Given the description of an element on the screen output the (x, y) to click on. 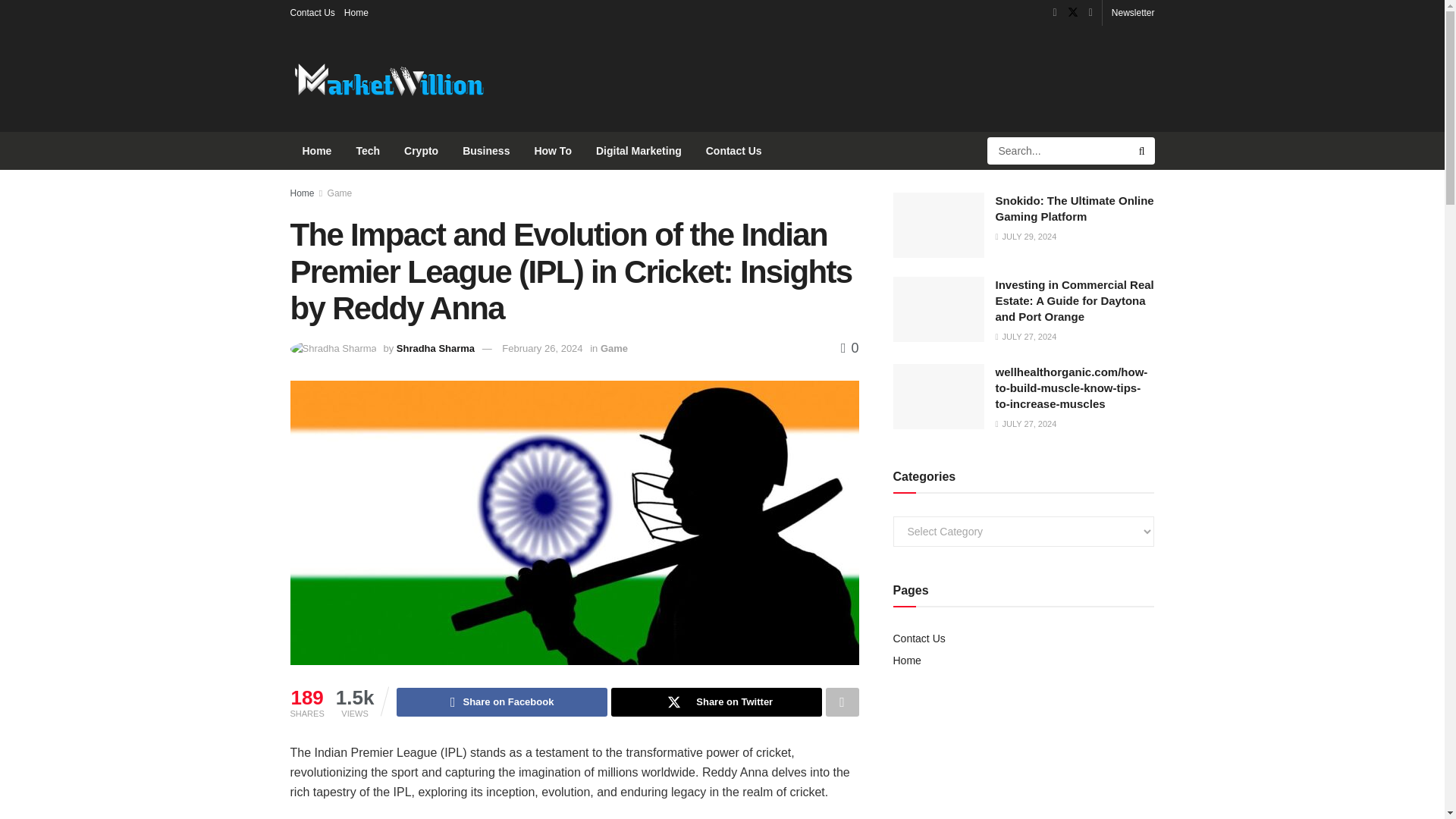
Newsletter (1133, 12)
Home (301, 193)
Share on Twitter (716, 701)
Business (485, 150)
0 (850, 347)
Home (355, 12)
Game (613, 348)
How To (552, 150)
Contact Us (311, 12)
Home (316, 150)
Contact Us (734, 150)
February 26, 2024 (542, 348)
Tech (367, 150)
Digital Marketing (638, 150)
Shradha Sharma (435, 348)
